Given the description of an element on the screen output the (x, y) to click on. 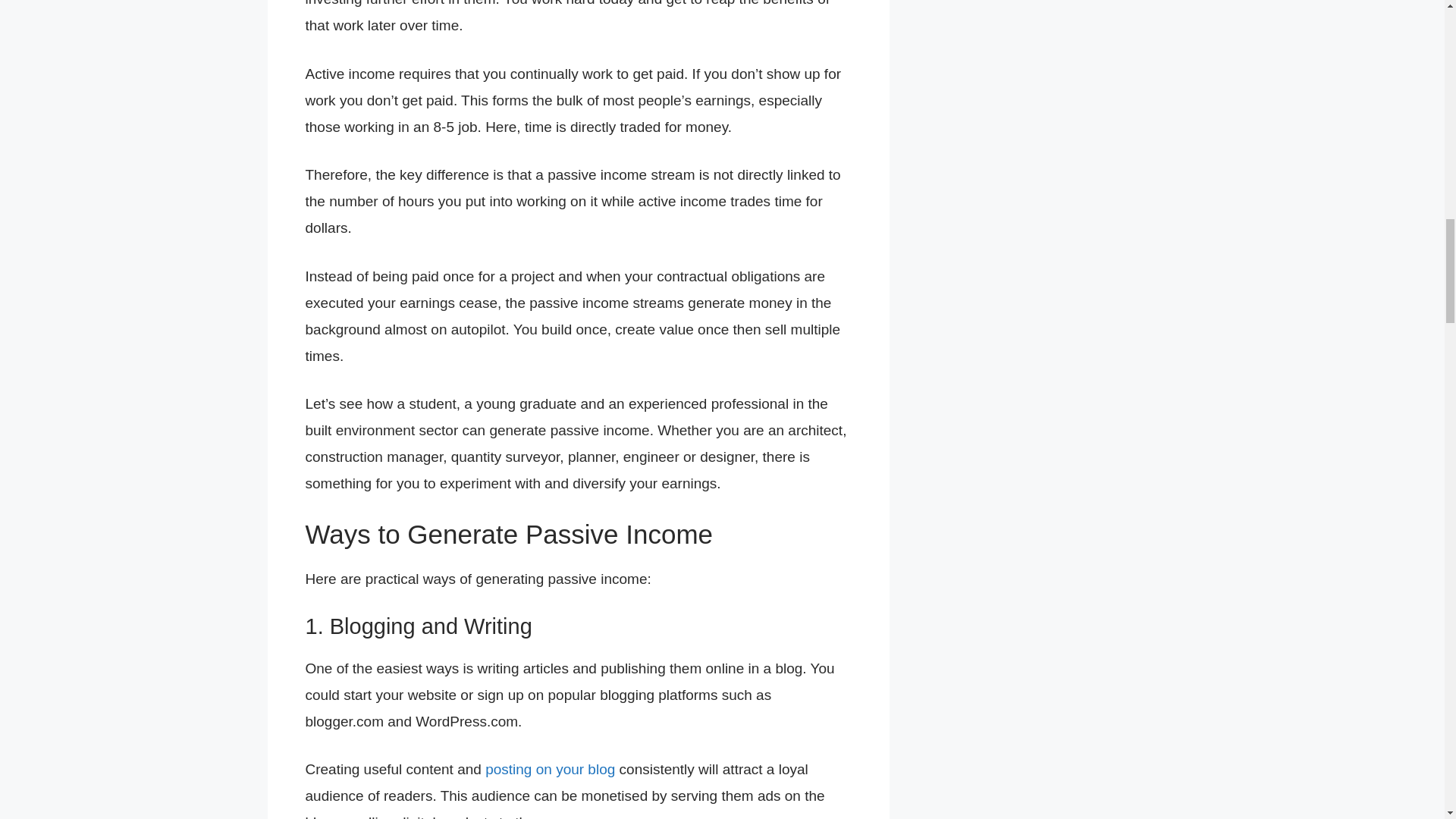
posting on your blog (549, 769)
